Given the description of an element on the screen output the (x, y) to click on. 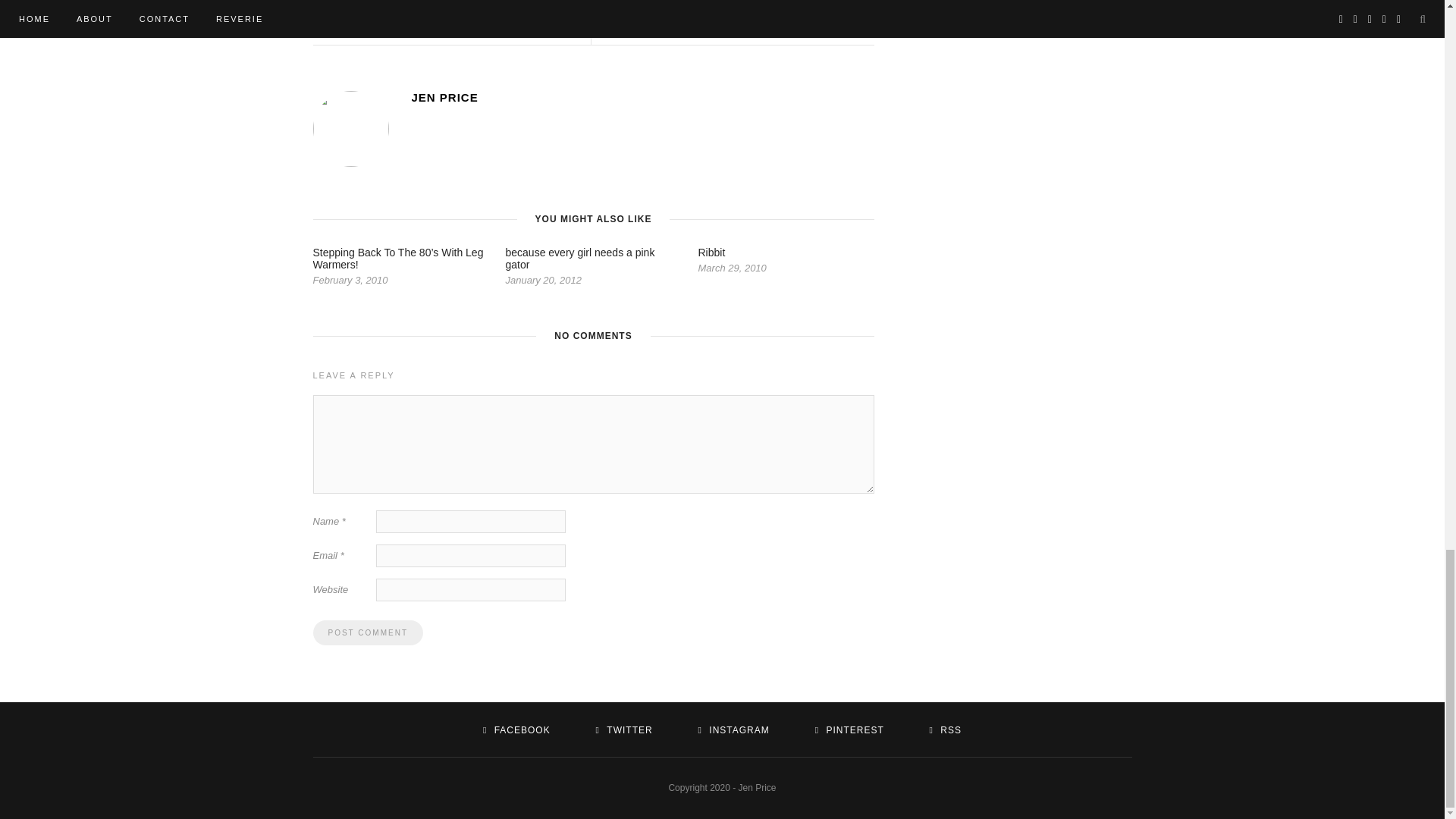
FACEBOOK (516, 729)
PINTEREST (849, 729)
Post Comment (367, 632)
INSTAGRAM (734, 729)
JEN PRICE (641, 97)
RSS (945, 729)
Posts by Jen Price (641, 97)
Post Comment (367, 632)
because every girl needs a pink gator (579, 258)
Ribbit (711, 252)
Posts by Jen Price (736, 24)
JEN PRICE (736, 24)
TWITTER (623, 729)
